Given the description of an element on the screen output the (x, y) to click on. 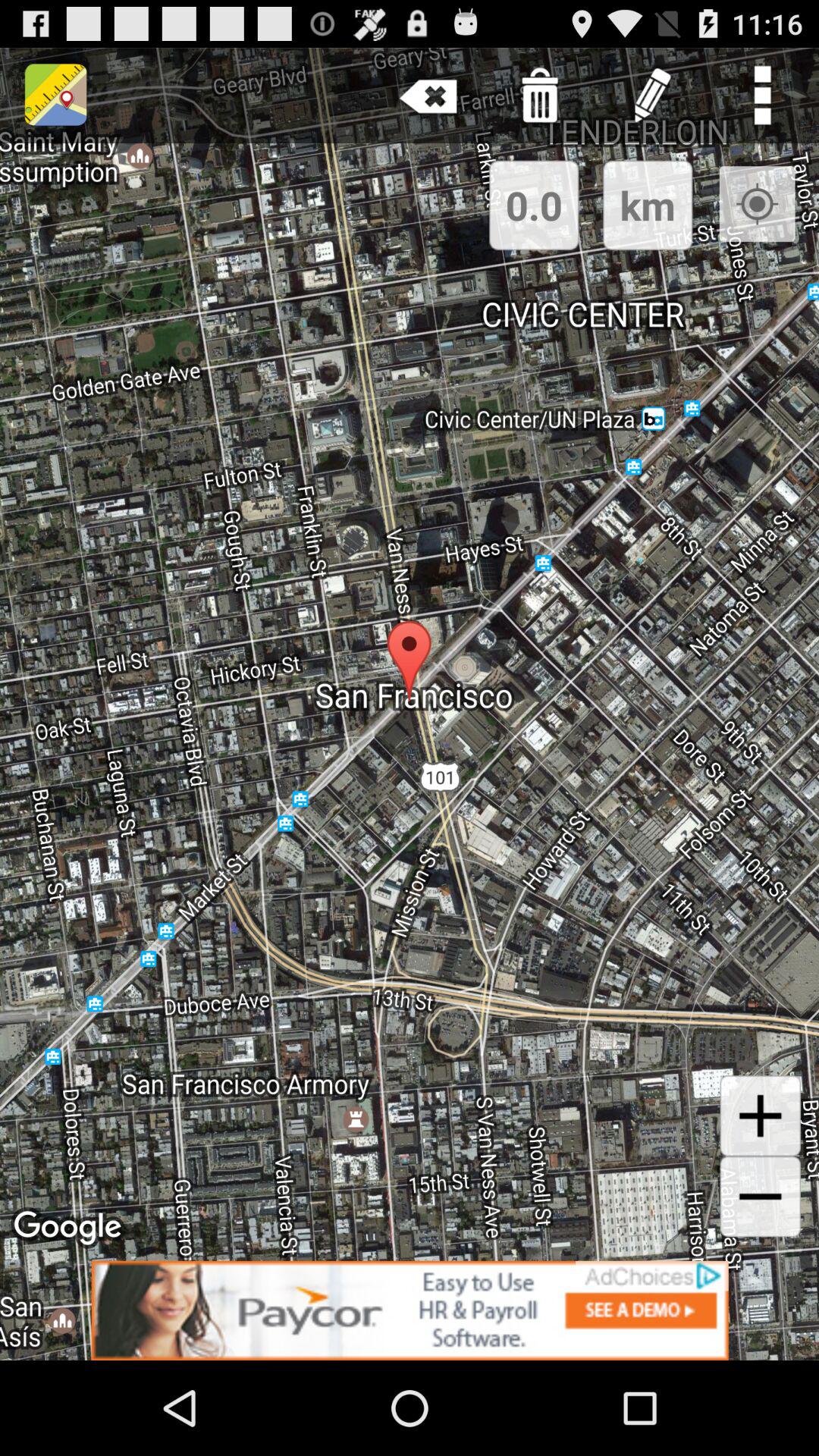
zoom the map (760, 1115)
